Given the description of an element on the screen output the (x, y) to click on. 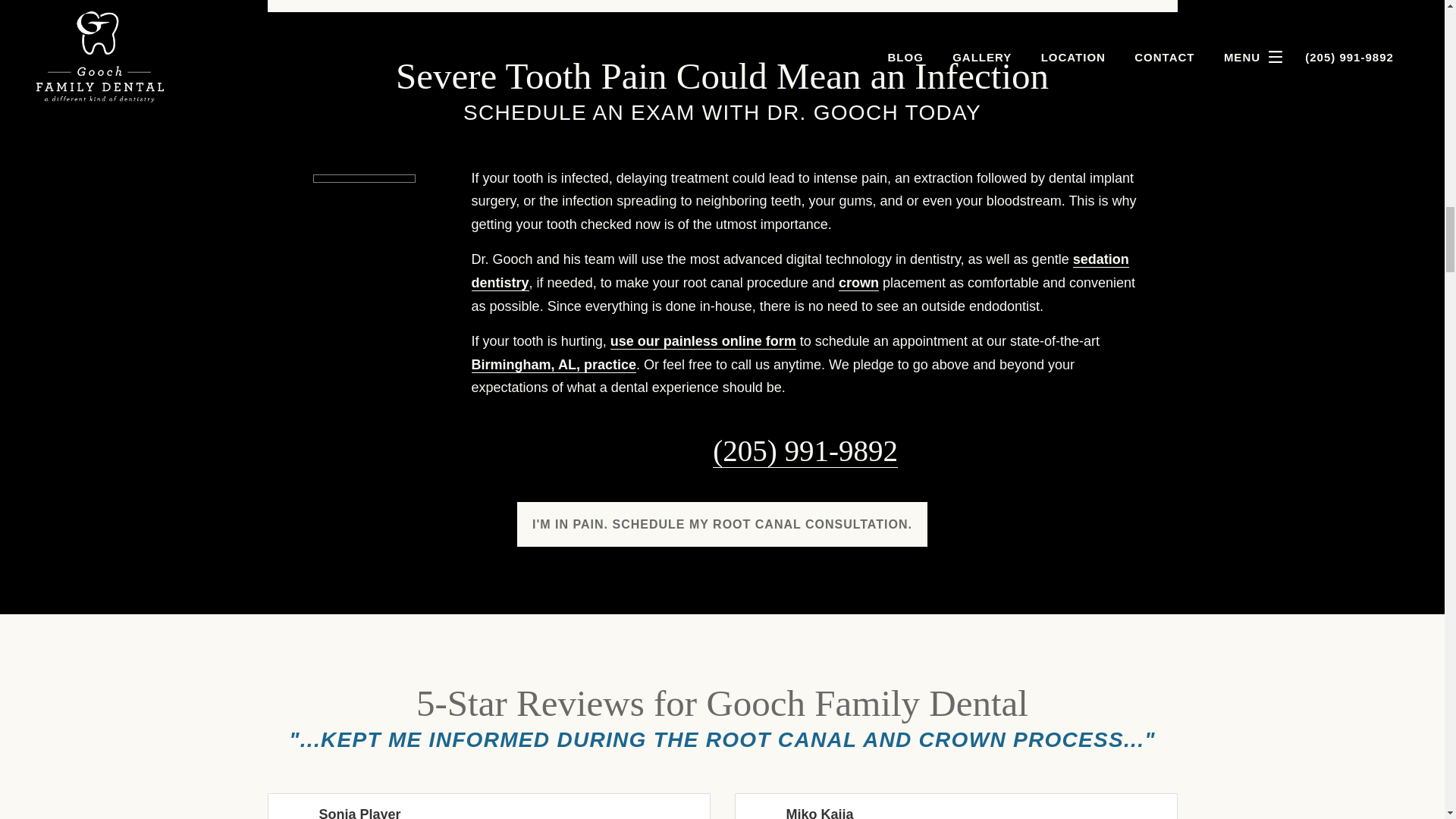
I'M IN PAIN. SCHEDULE MY ROOT CANAL CONSULTATION. (721, 524)
Birmingham, AL, practice (553, 365)
sedation dentistry (800, 271)
crown (858, 283)
use our painless online form (703, 341)
